Given the description of an element on the screen output the (x, y) to click on. 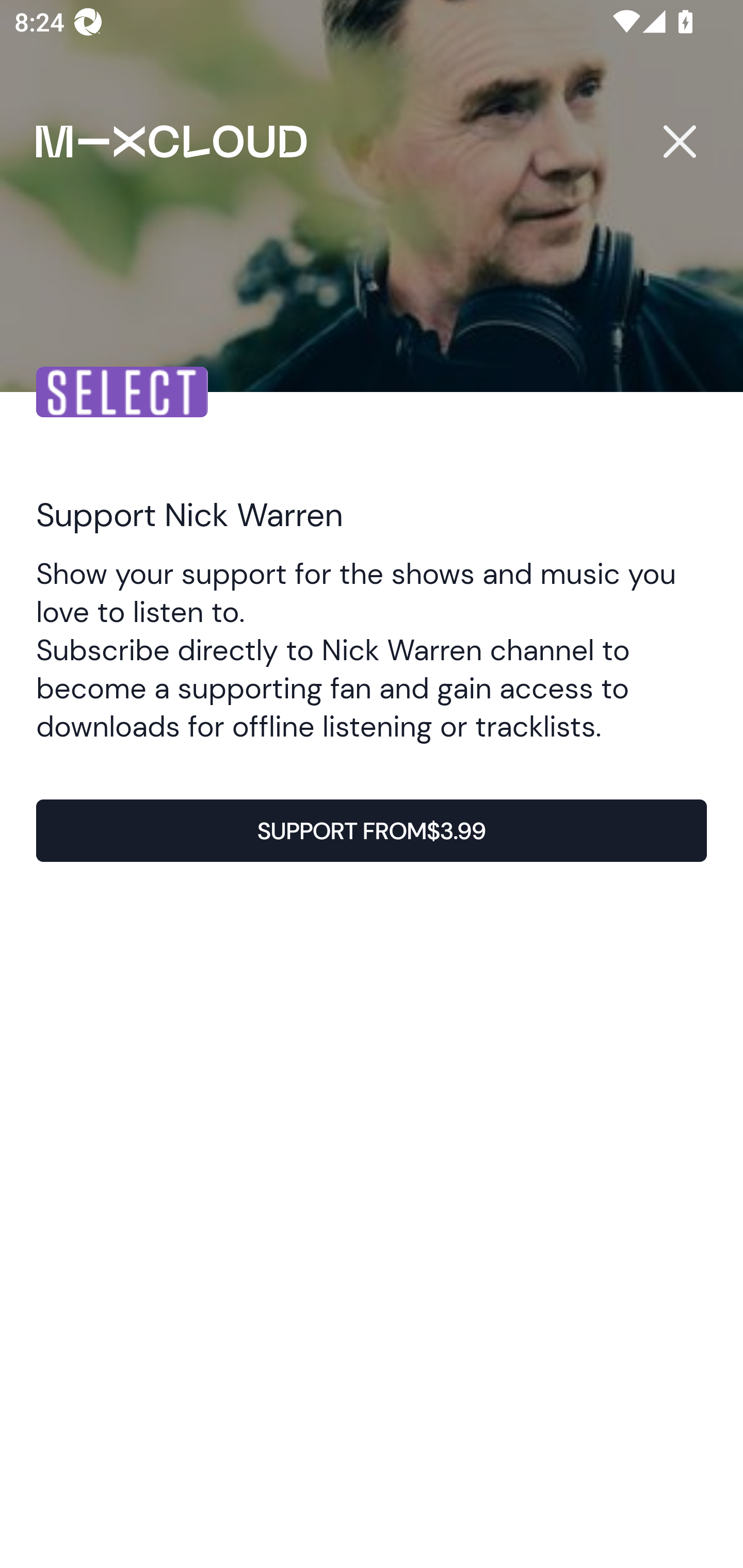
Close popup button (679, 141)
SUPPORT FROM$3.99 (371, 830)
